Given the description of an element on the screen output the (x, y) to click on. 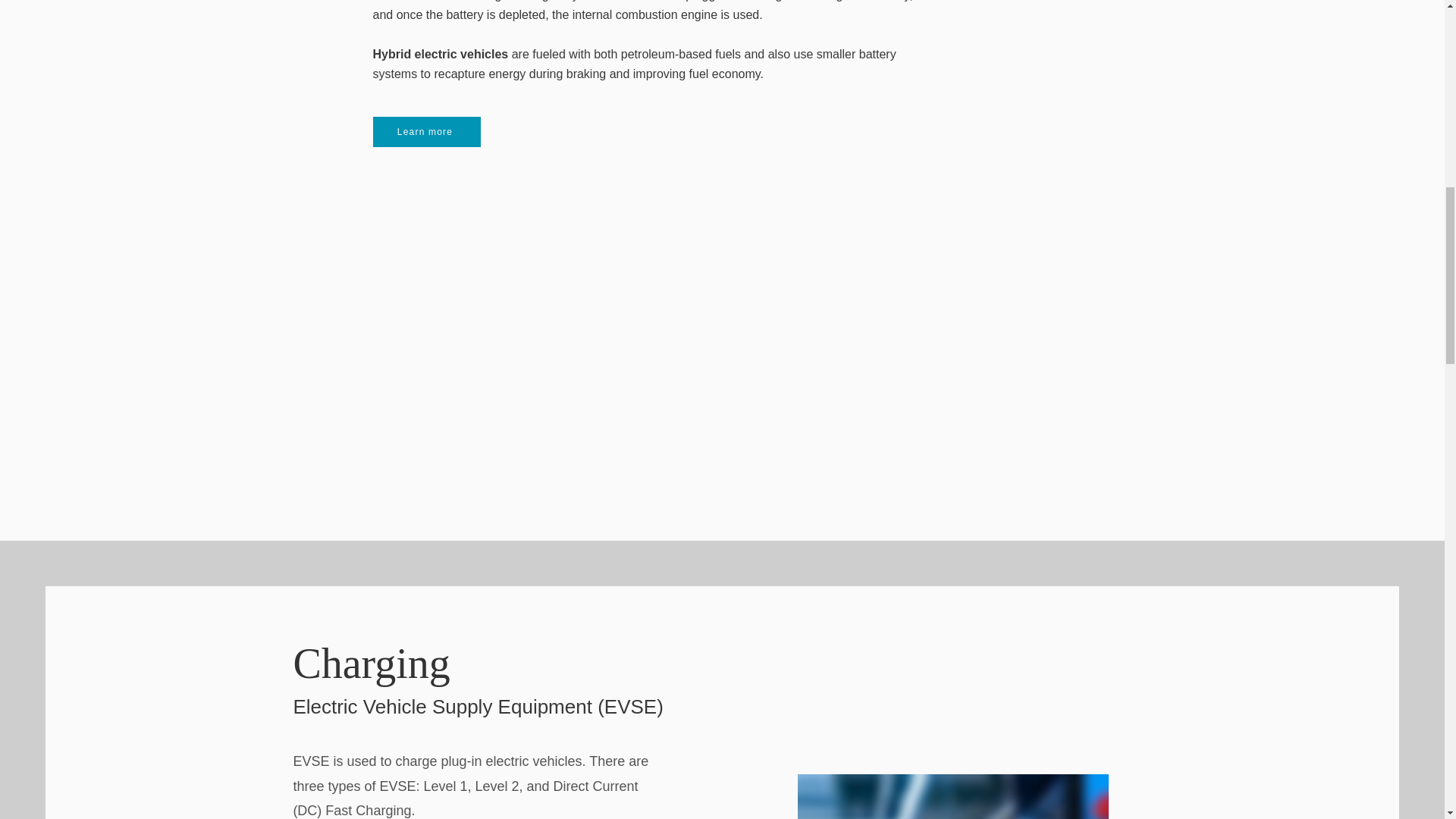
Learn more (426, 132)
